Given the description of an element on the screen output the (x, y) to click on. 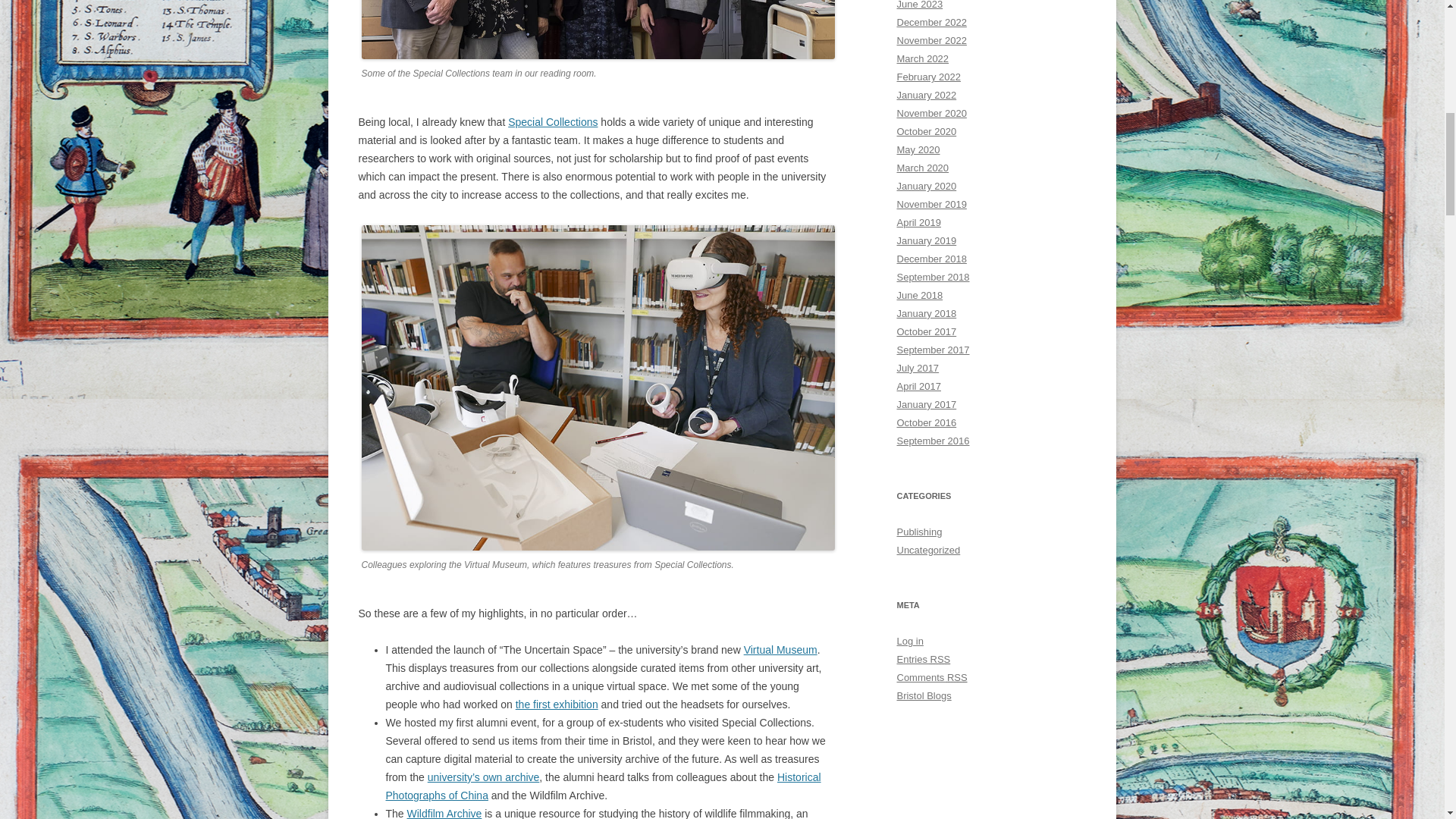
The latest comments to all posts in RSS (931, 677)
Syndicate this site using RSS 2.0 (923, 659)
Powered by Bristol Blogs (923, 695)
Really Simple Syndication (957, 677)
Special Collections (552, 121)
the first exhibition (556, 704)
Historical Photographs of China (603, 786)
Wildfilm Archive (444, 813)
Virtual Museum (780, 649)
Really Simple Syndication (940, 659)
